Given the description of an element on the screen output the (x, y) to click on. 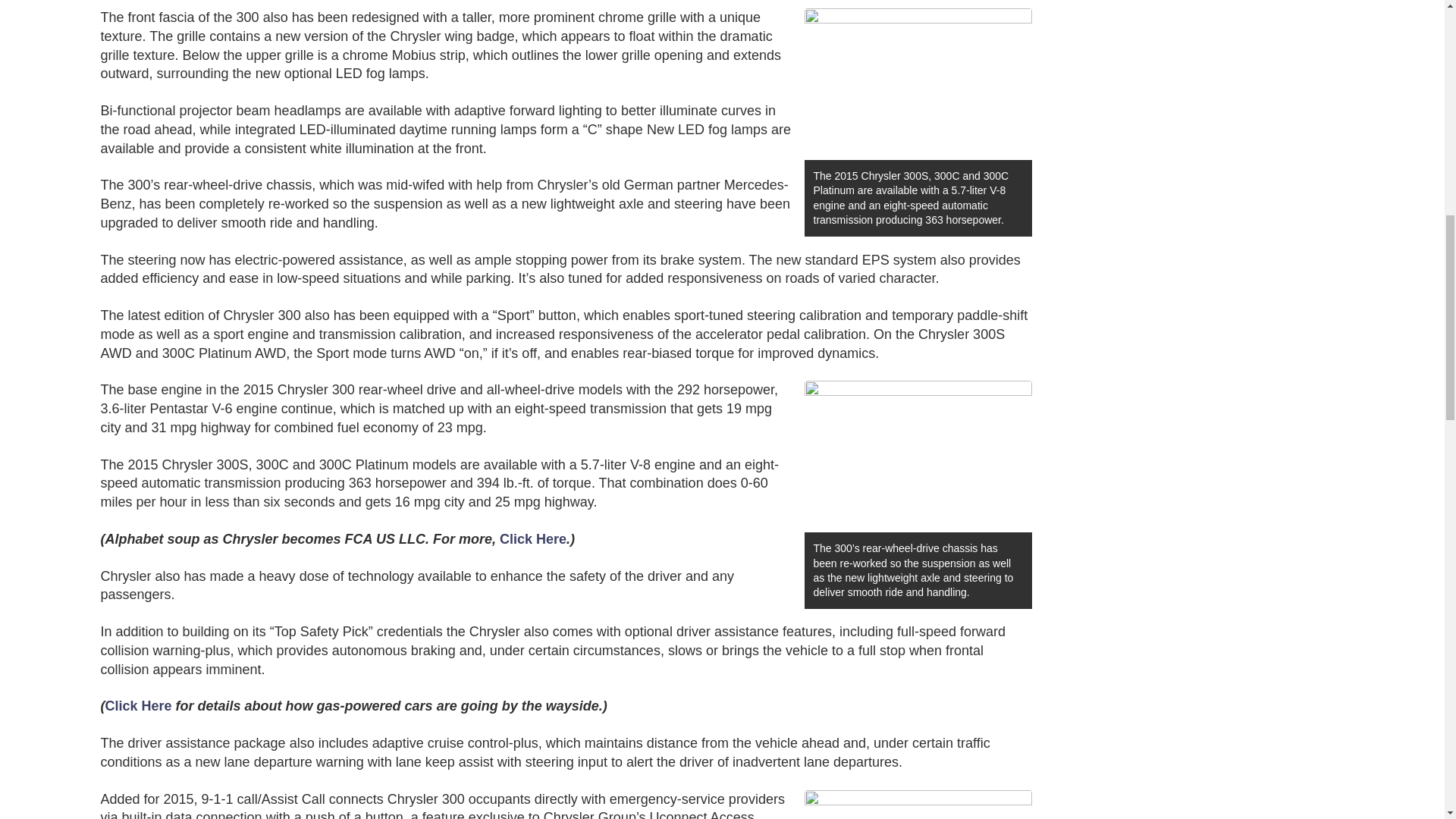
2015 Chrysler 300S (916, 804)
2015 Chrysler 300C Platinum (916, 83)
2015 Chrysler 300C Platinum (916, 456)
